Given the description of an element on the screen output the (x, y) to click on. 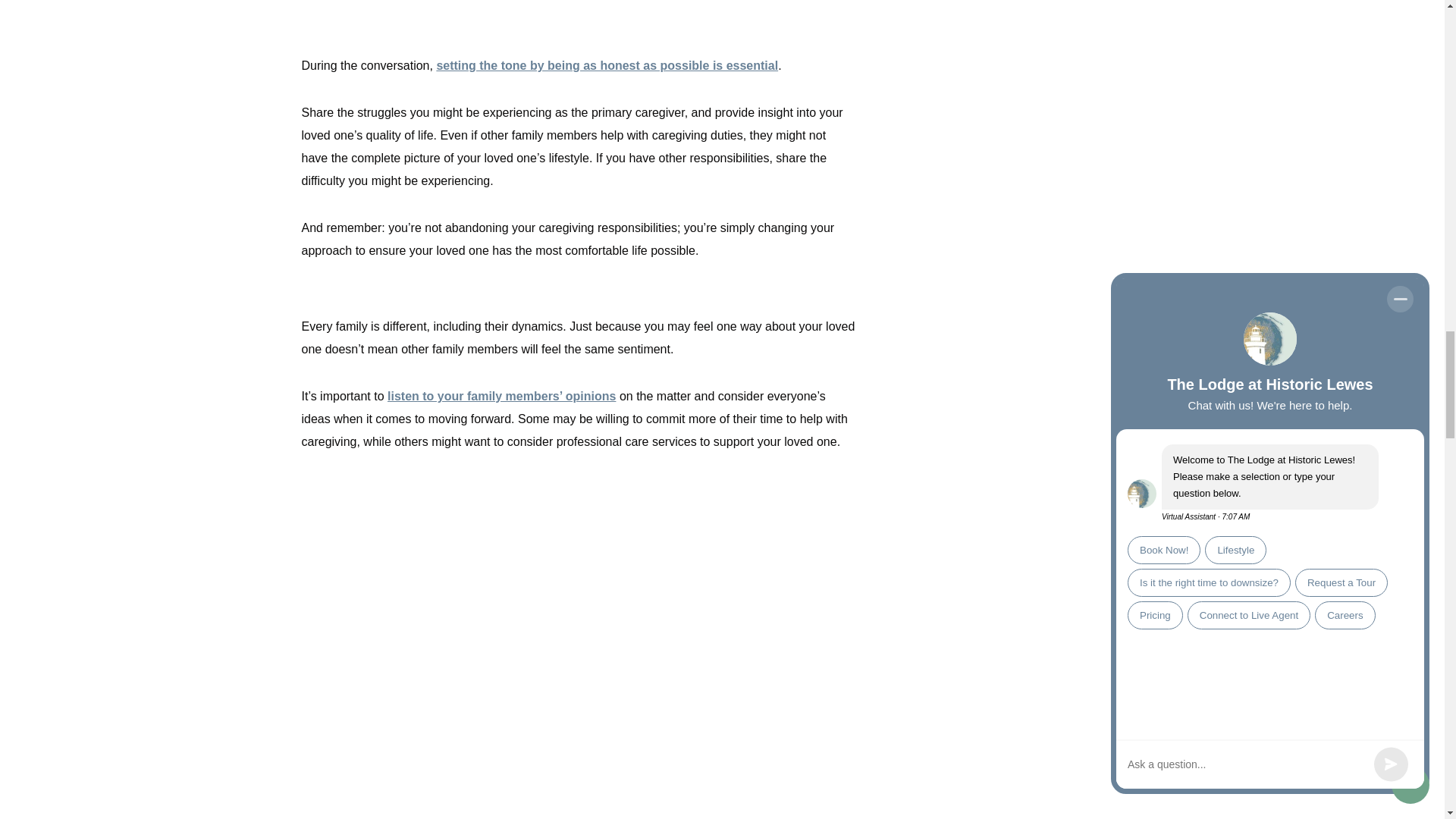
setting the tone by being as honest as possible is essential (606, 65)
